Given the description of an element on the screen output the (x, y) to click on. 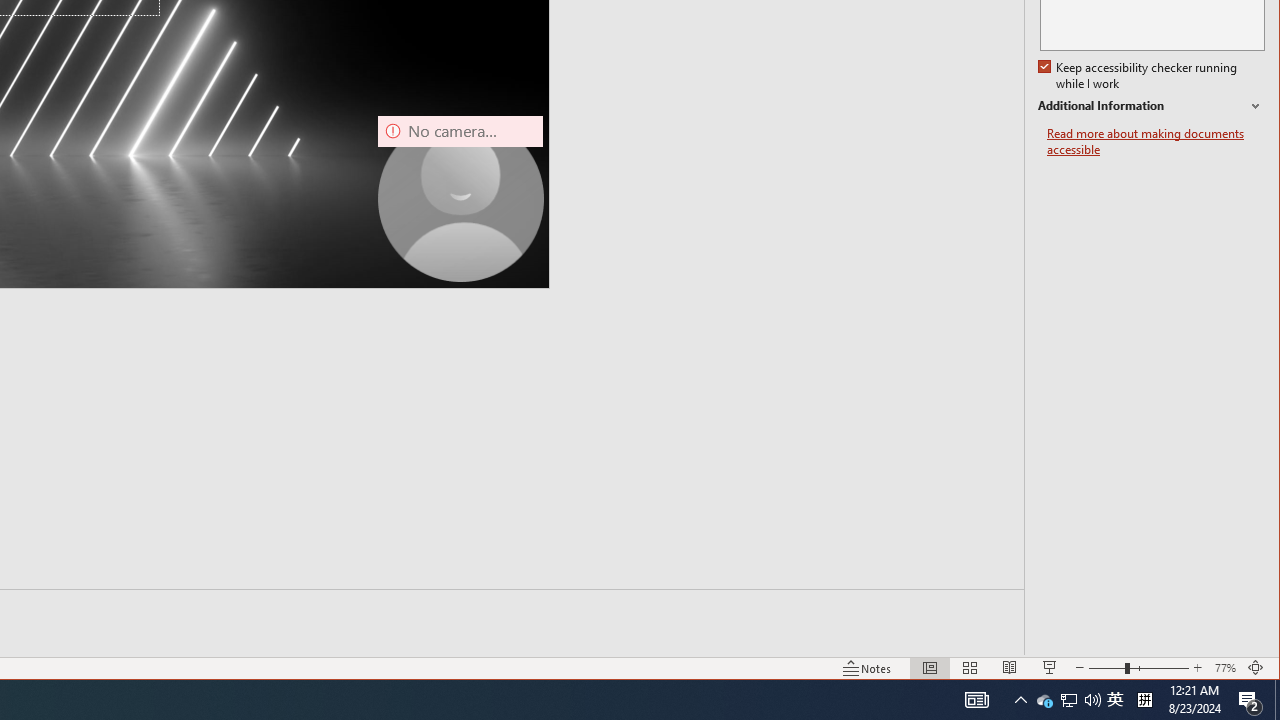
Zoom 77% (1225, 668)
Camera 7, No camera detected. (460, 197)
